Given the description of an element on the screen output the (x, y) to click on. 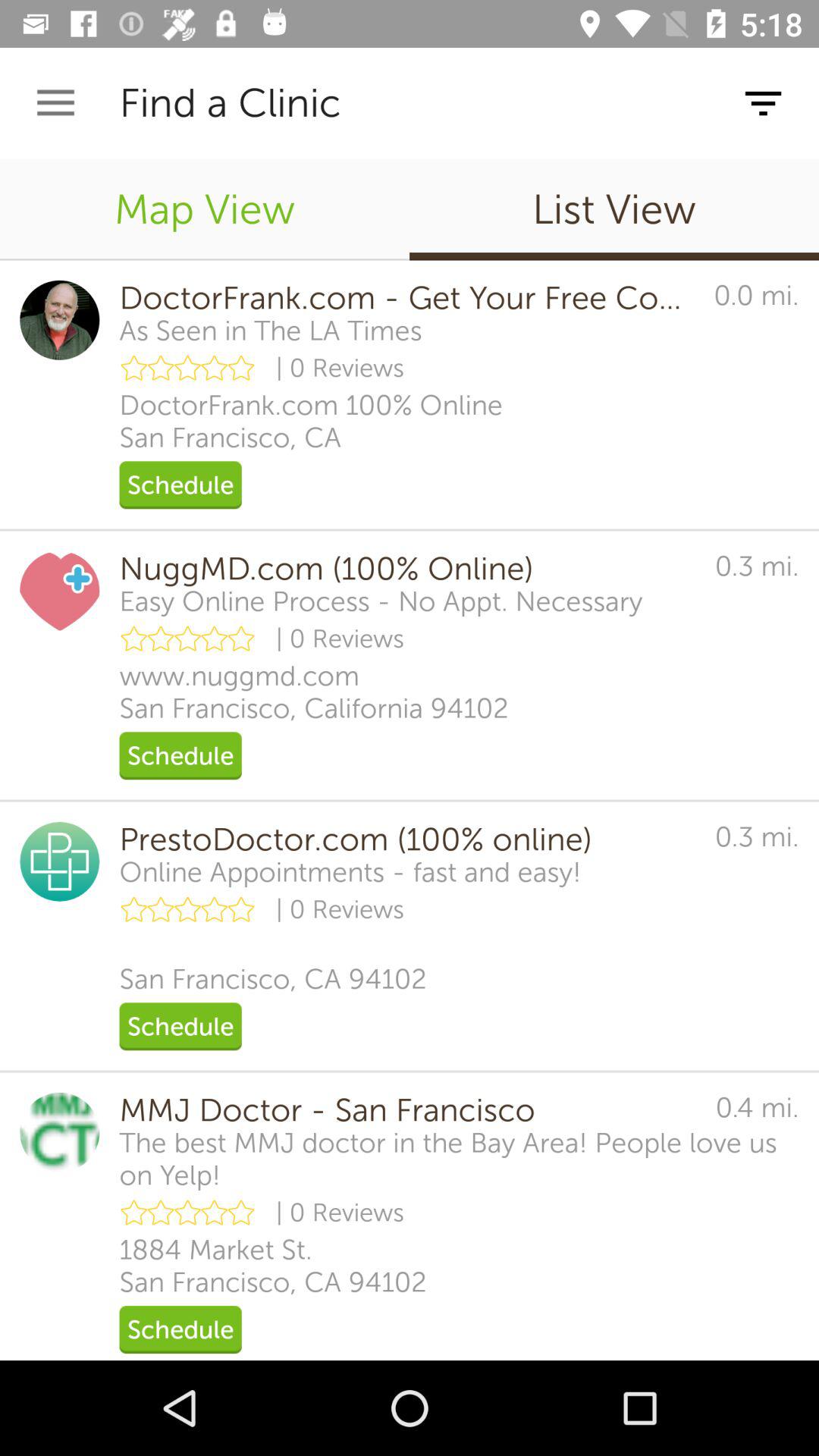
turn off icon above | 0 reviews (270, 330)
